Given the description of an element on the screen output the (x, y) to click on. 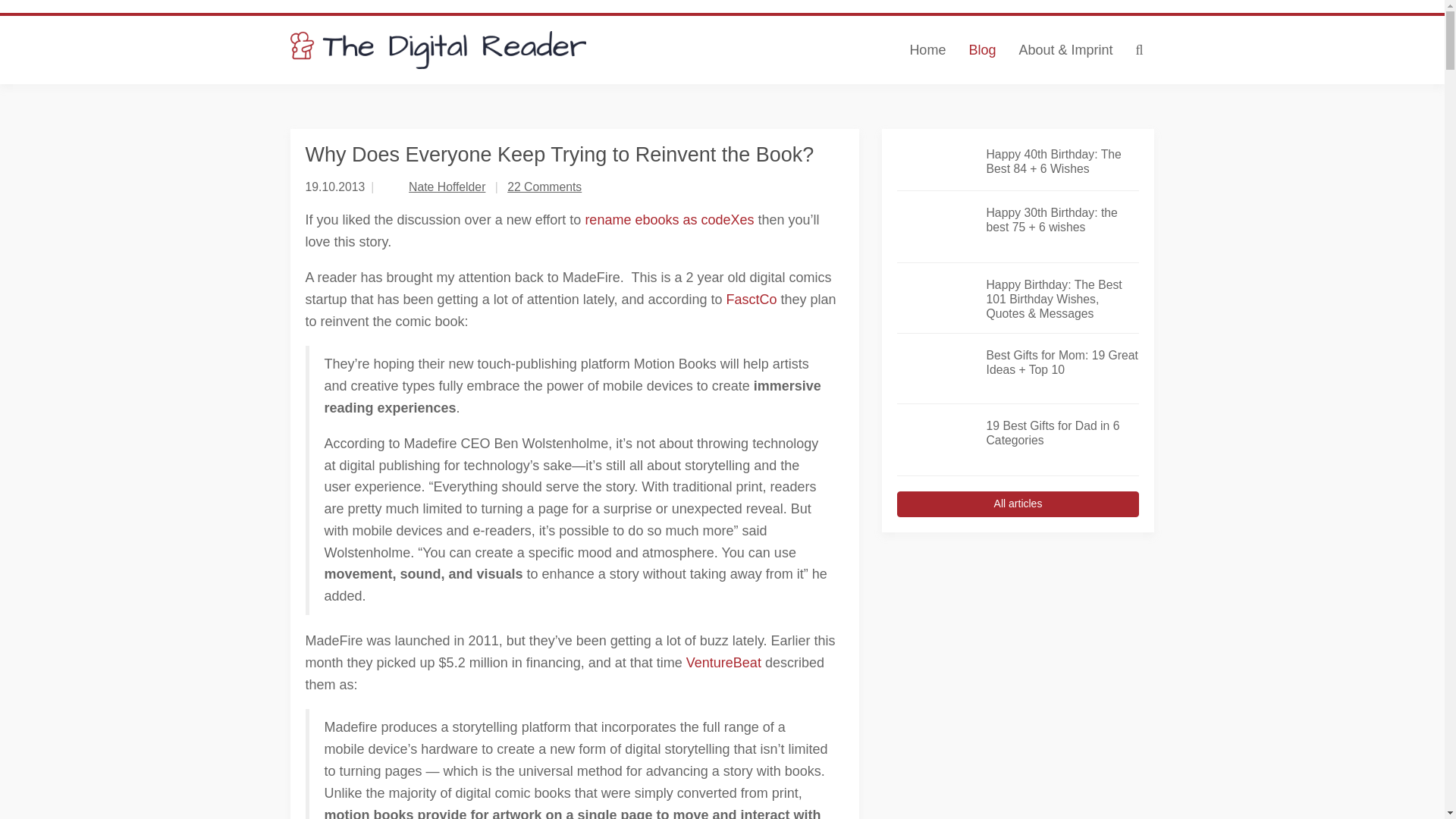
Nate Hoffelder (446, 186)
Home (927, 49)
22 Comments (543, 186)
The Digital Reader (437, 49)
Blog (981, 49)
rename ebooks as codeXes (669, 219)
FasctCo (751, 299)
VentureBeat (723, 662)
